Given the description of an element on the screen output the (x, y) to click on. 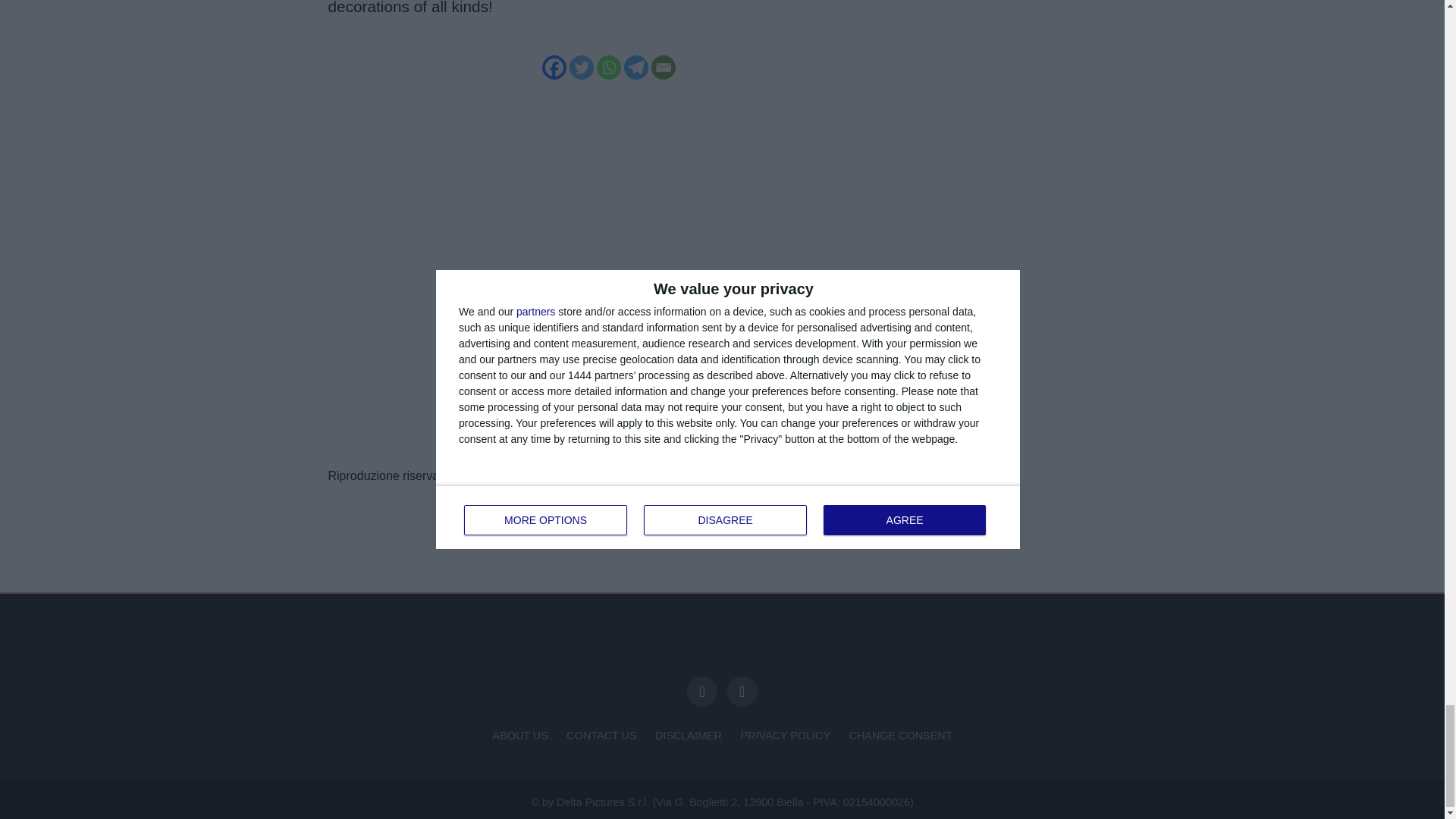
Email (662, 67)
Twitter (580, 67)
Facebook (553, 67)
Whatsapp (607, 67)
Telegram (635, 67)
